Given the description of an element on the screen output the (x, y) to click on. 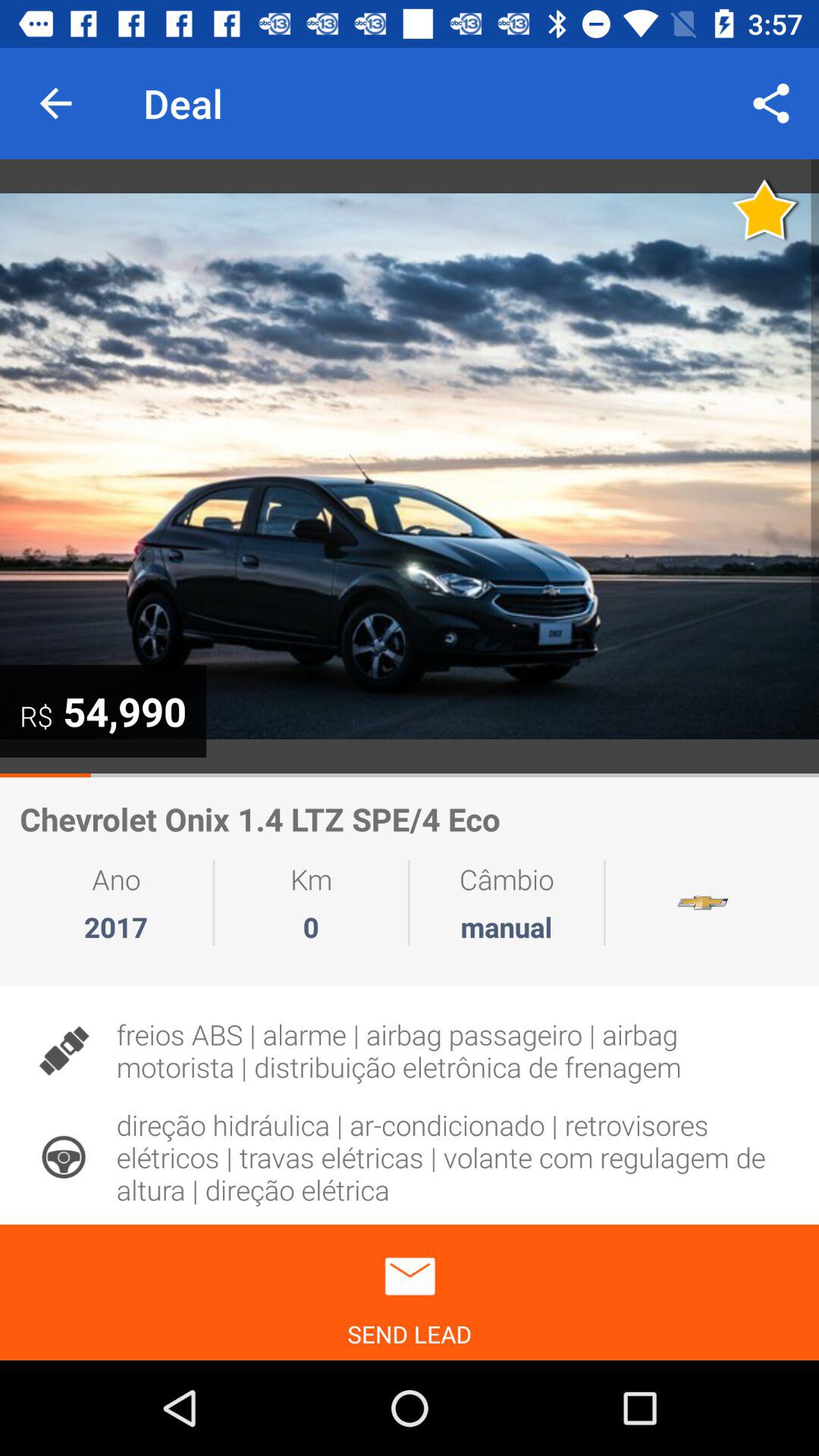
turn on item to the left of the deal icon (55, 103)
